Given the description of an element on the screen output the (x, y) to click on. 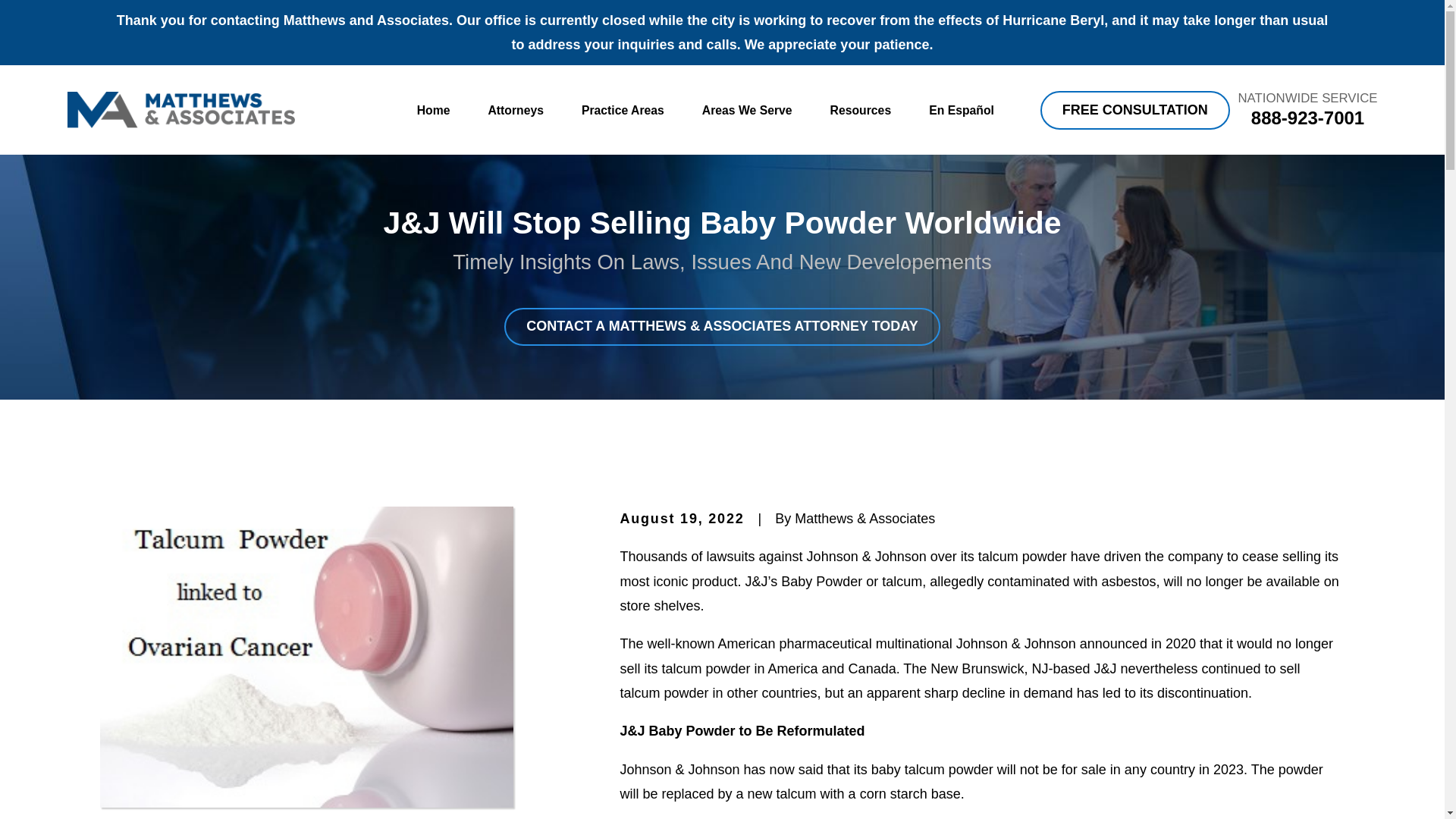
Attorneys (515, 110)
Home (180, 109)
Practice Areas (621, 110)
